Given the description of an element on the screen output the (x, y) to click on. 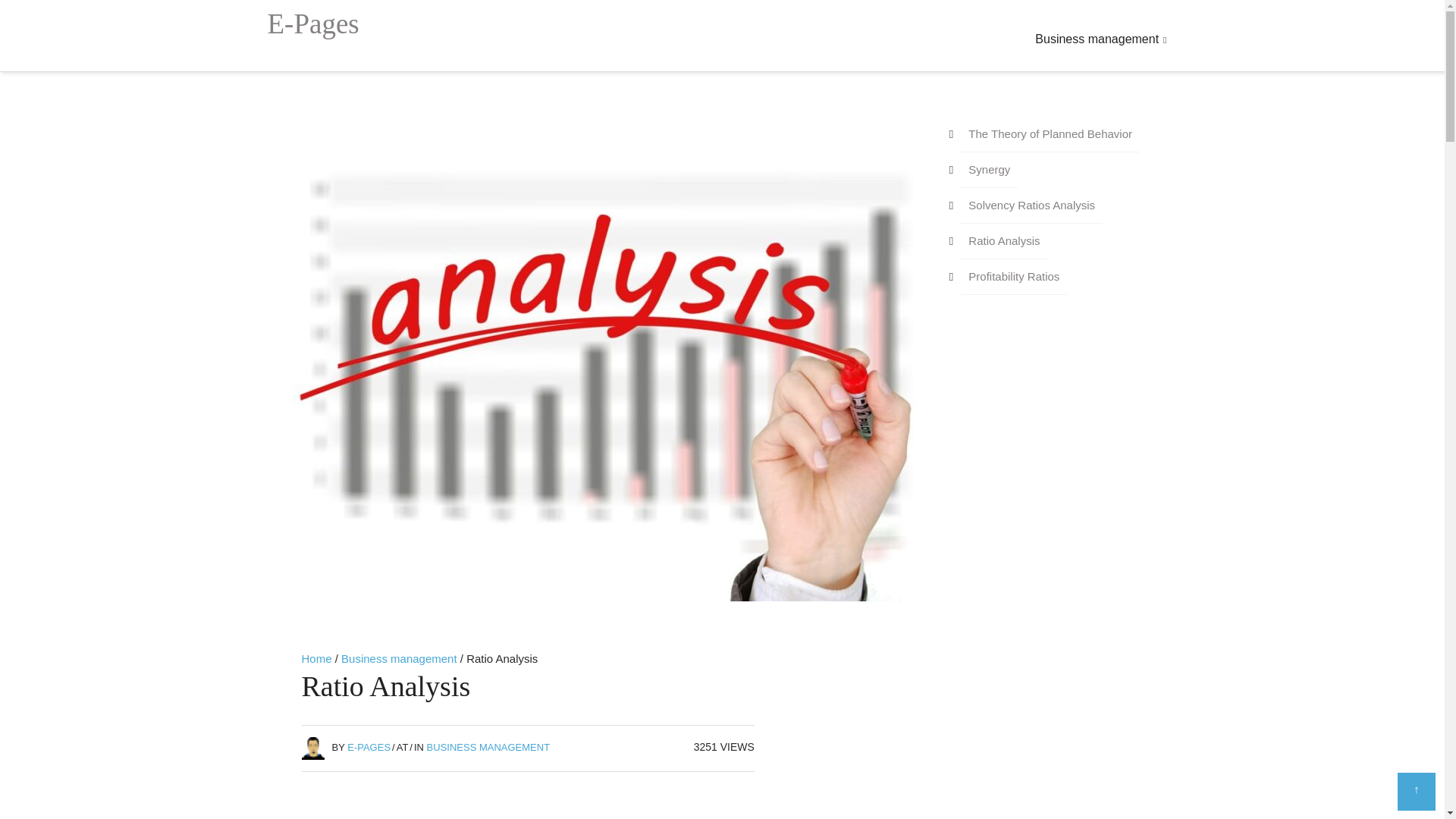
E-Pages (312, 23)
Business management (1100, 39)
Posts by E-pages (368, 747)
BUSINESS MANAGEMENT (488, 747)
Business management (398, 658)
The Theory of Planned Behavior (1050, 134)
E-Pages (312, 23)
E-PAGES (368, 747)
Home (316, 658)
